Given the description of an element on the screen output the (x, y) to click on. 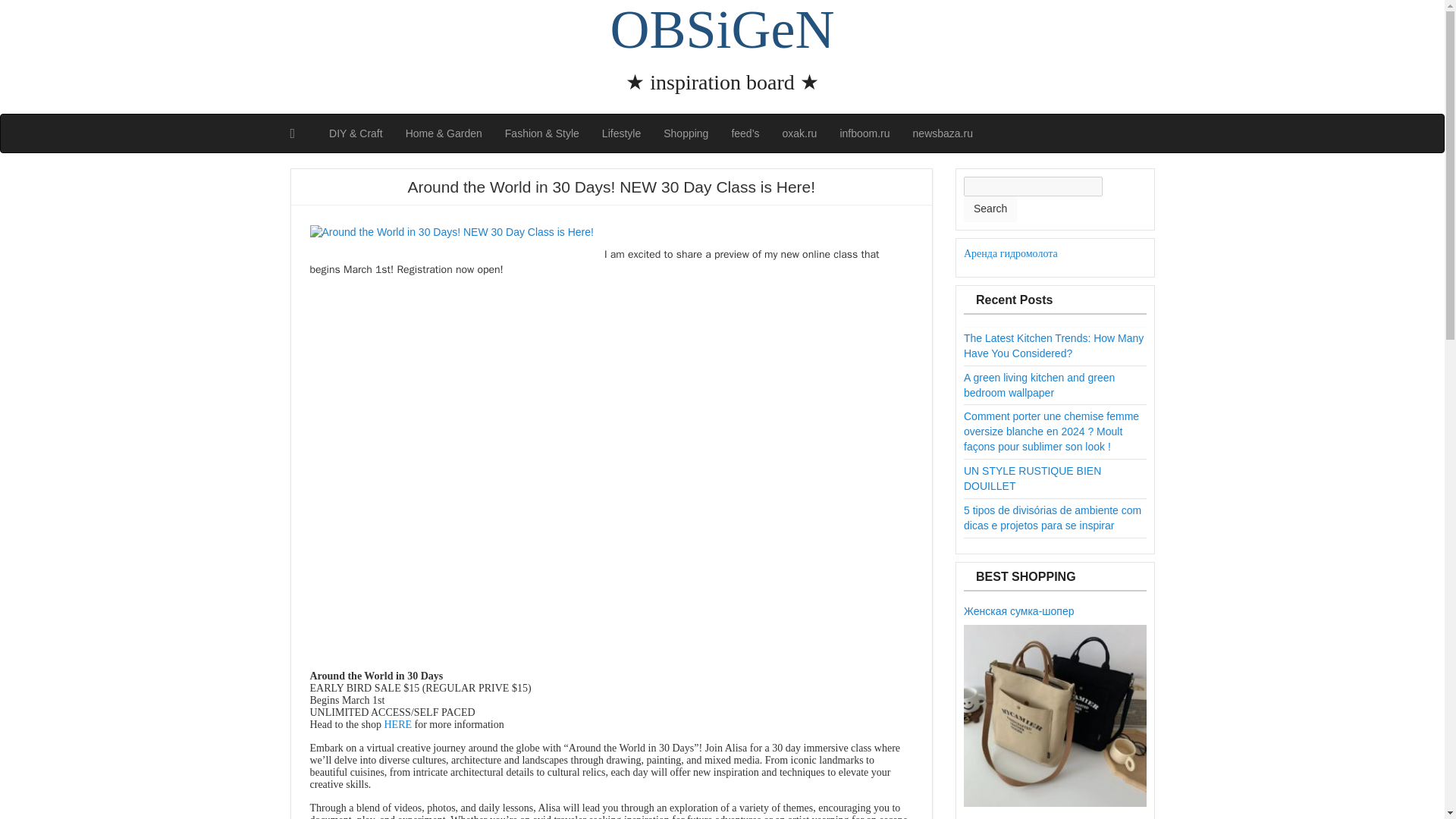
newsbaza.ru (942, 133)
Search (989, 208)
feed's (744, 133)
The Latest Kitchen Trends: How Many Have You Considered? (1052, 345)
oxak.ru (799, 133)
Lifestyle (621, 133)
newsbaza.ru (942, 133)
infboom.ru (864, 133)
Shopping (685, 133)
Shopping (685, 133)
